Given the description of an element on the screen output the (x, y) to click on. 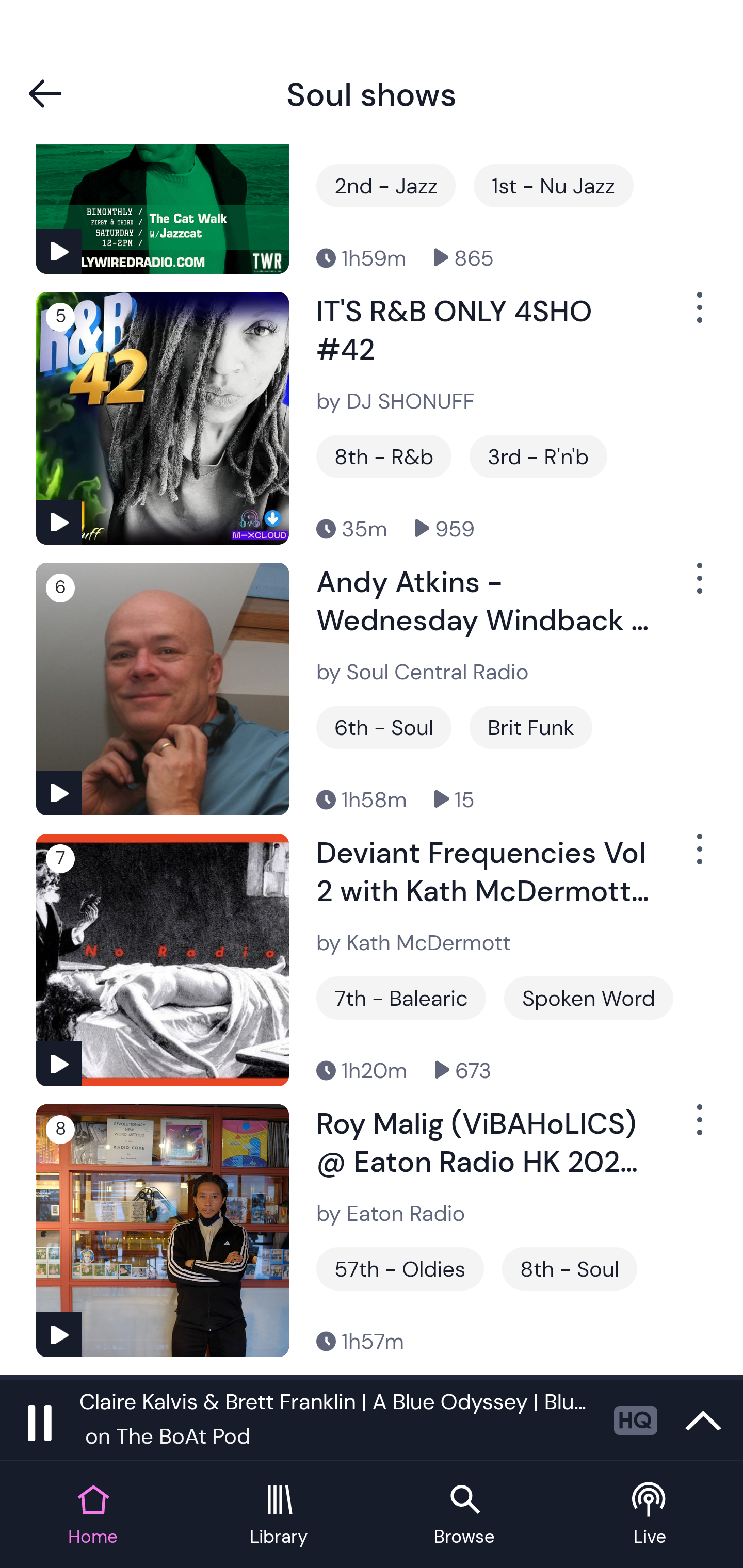
2nd - Jazz (385, 185)
1st - Nu Jazz (553, 185)
Show Options Menu Button (697, 314)
8th - R&b (383, 456)
3rd - R'n'b (538, 456)
Show Options Menu Button (697, 585)
6th - Soul (383, 727)
Brit Funk (530, 727)
Show Options Menu Button (697, 857)
7th - Balearic (400, 997)
Spoken Word (588, 997)
Show Options Menu Button (697, 1126)
57th - Oldies (399, 1268)
8th - Soul (569, 1268)
Home tab Home (92, 1515)
Library tab Library (278, 1515)
Browse tab Browse (464, 1515)
Live tab Live (650, 1515)
